Given the description of an element on the screen output the (x, y) to click on. 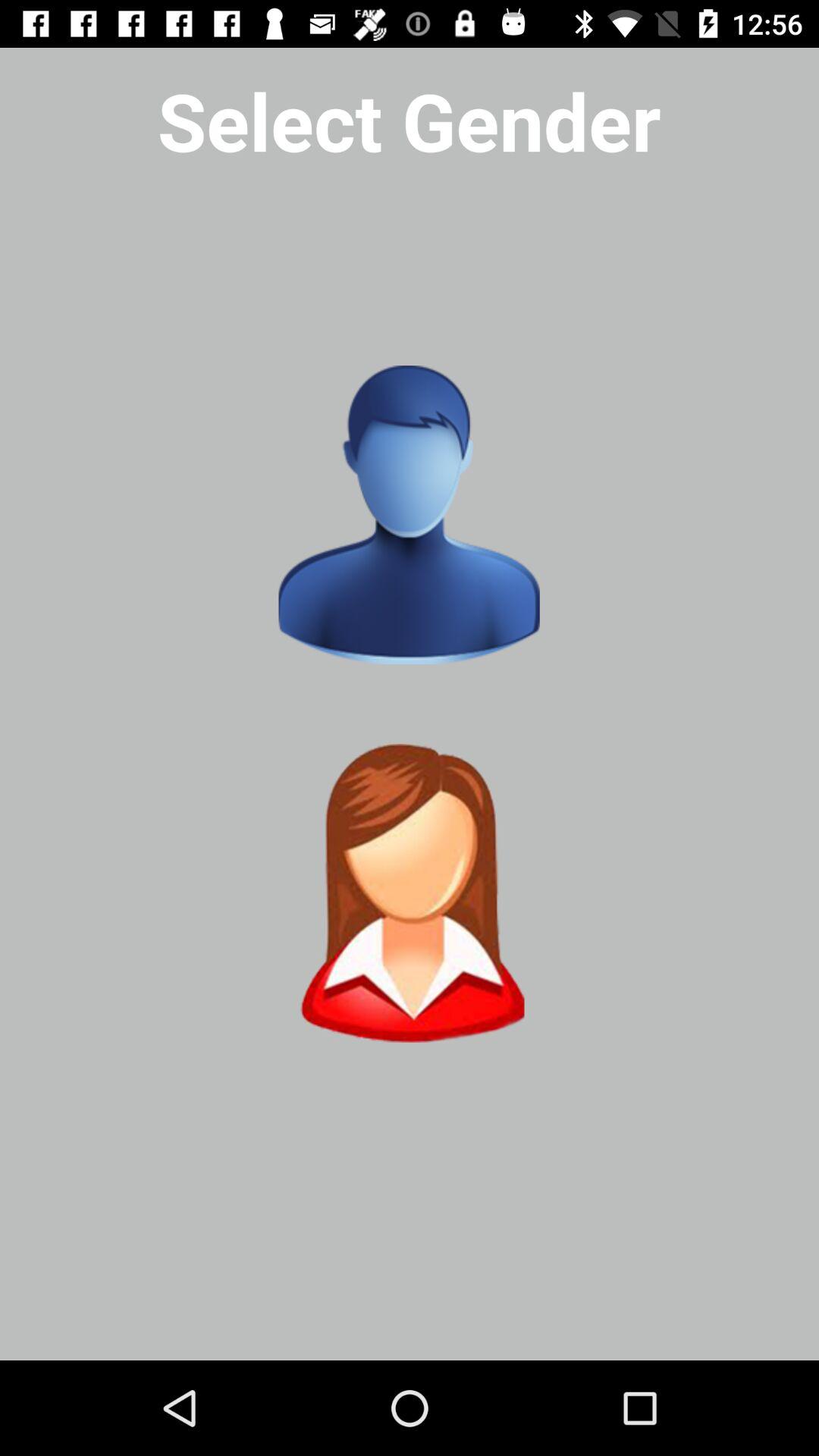
pick male gender (408, 514)
